Given the description of an element on the screen output the (x, y) to click on. 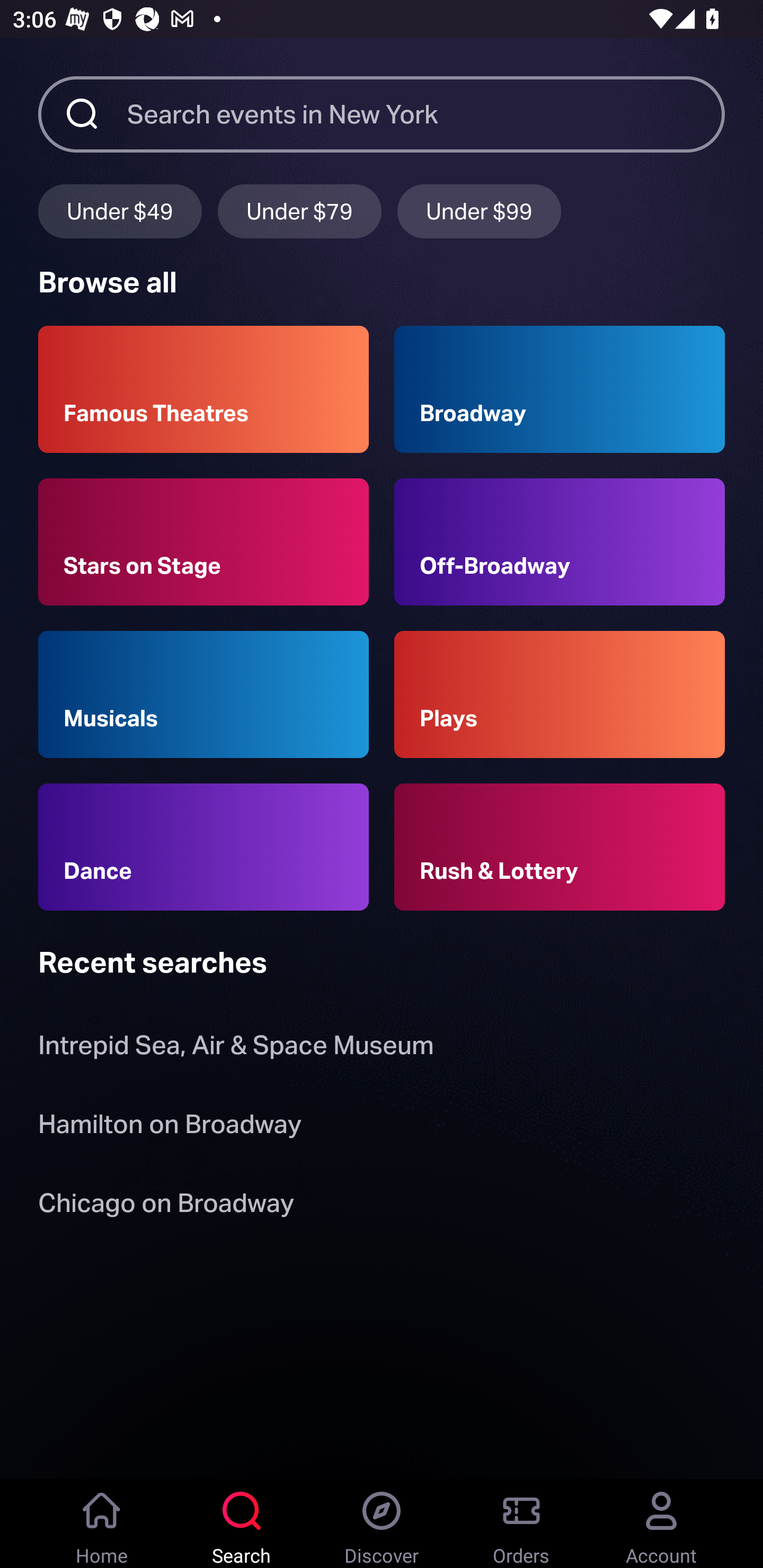
Search events in New York (425, 113)
Under $49 (120, 211)
Under $79 (299, 211)
Under $99 (478, 211)
Famous Theatres (203, 389)
Broadway (559, 389)
Stars on Stage (203, 541)
Off-Broadway (559, 541)
Musicals (203, 693)
Plays (559, 693)
Dance (203, 847)
Rush & Lottery (559, 847)
Intrepid Sea, Air & Space Museum (236, 1048)
Hamilton on Broadway (169, 1127)
Chicago on Broadway (165, 1205)
Home (101, 1523)
Discover (381, 1523)
Orders (521, 1523)
Account (660, 1523)
